Given the description of an element on the screen output the (x, y) to click on. 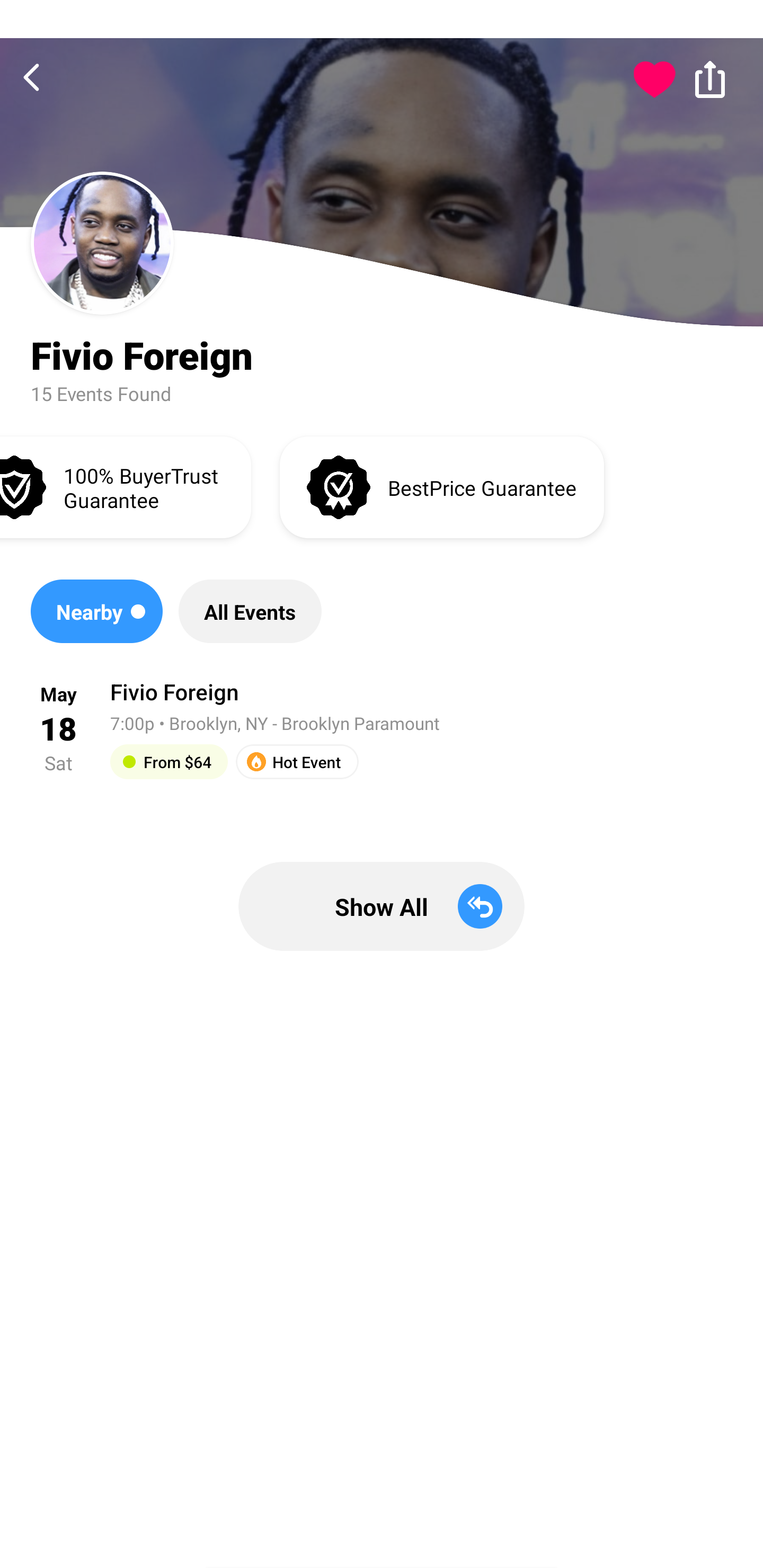
100% BuyerTrust Guarantee (125, 486)
BestPrice Guarantee (442, 486)
Nearby (96, 611)
All Events (249, 611)
Show All (381, 906)
